Given the description of an element on the screen output the (x, y) to click on. 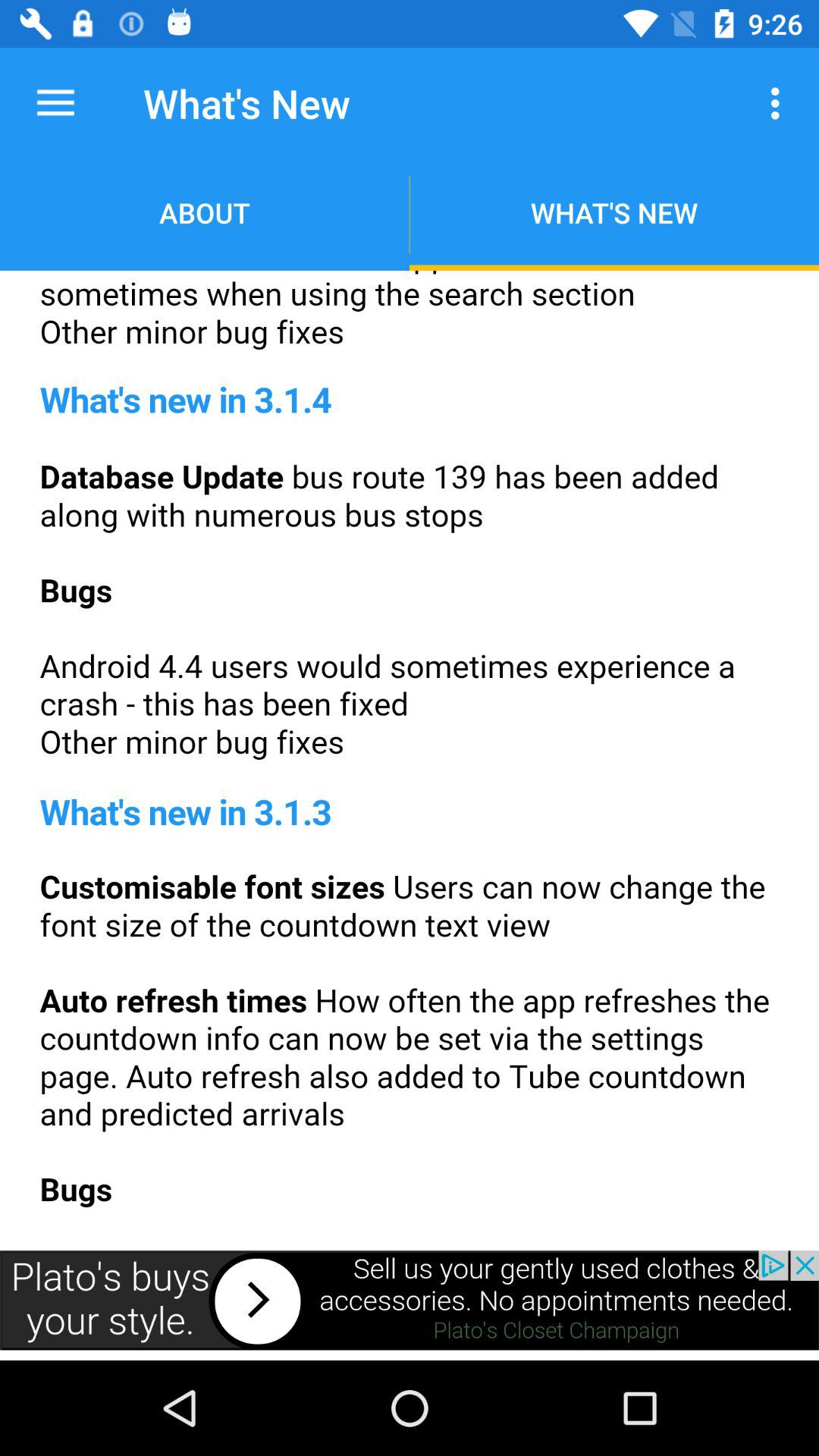
advertisement (409, 1300)
